Given the description of an element on the screen output the (x, y) to click on. 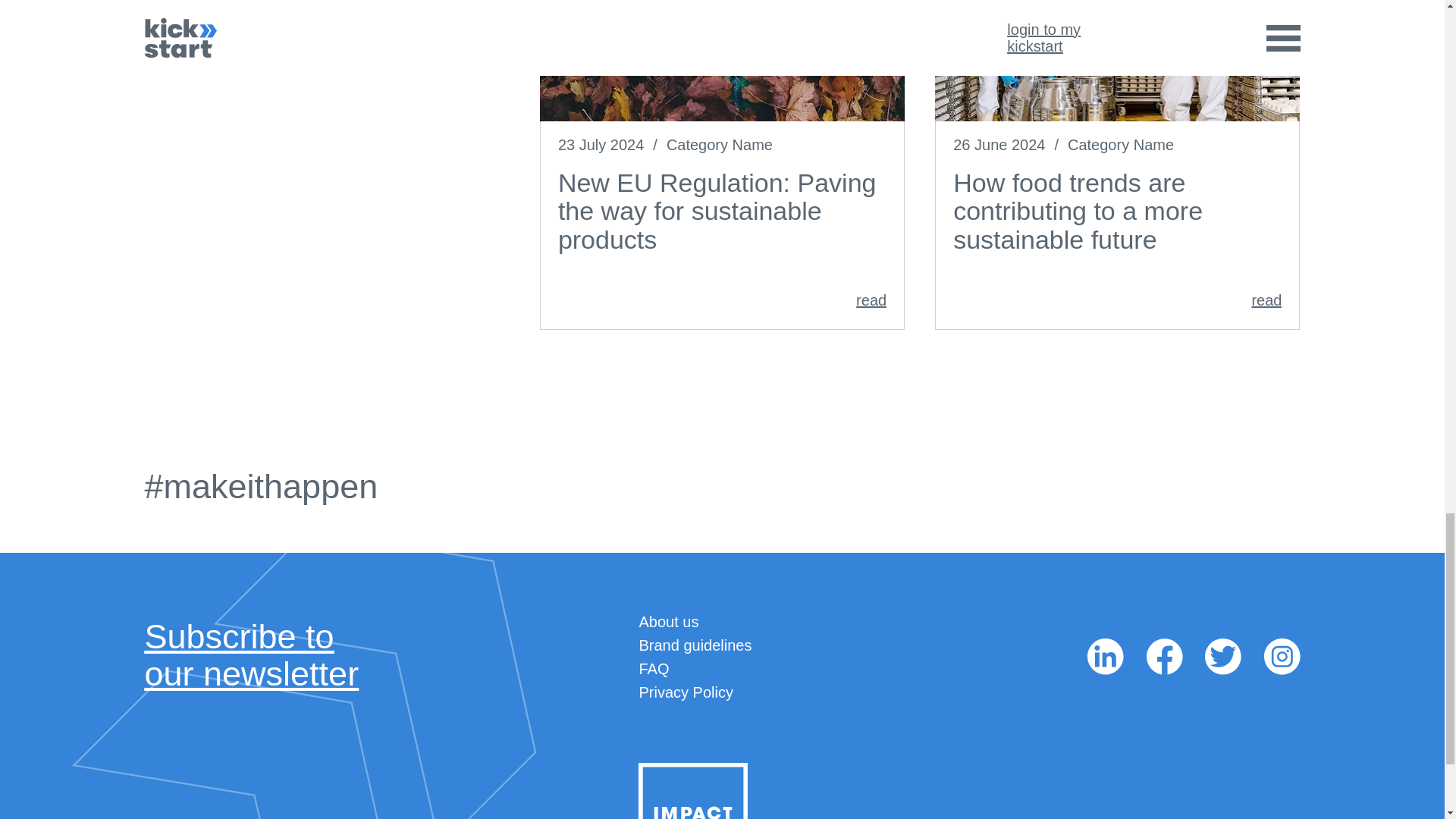
read (721, 300)
Brand guidelines (695, 645)
FAQ (653, 668)
About us (251, 655)
Privacy Policy (668, 621)
read (685, 692)
